Given the description of an element on the screen output the (x, y) to click on. 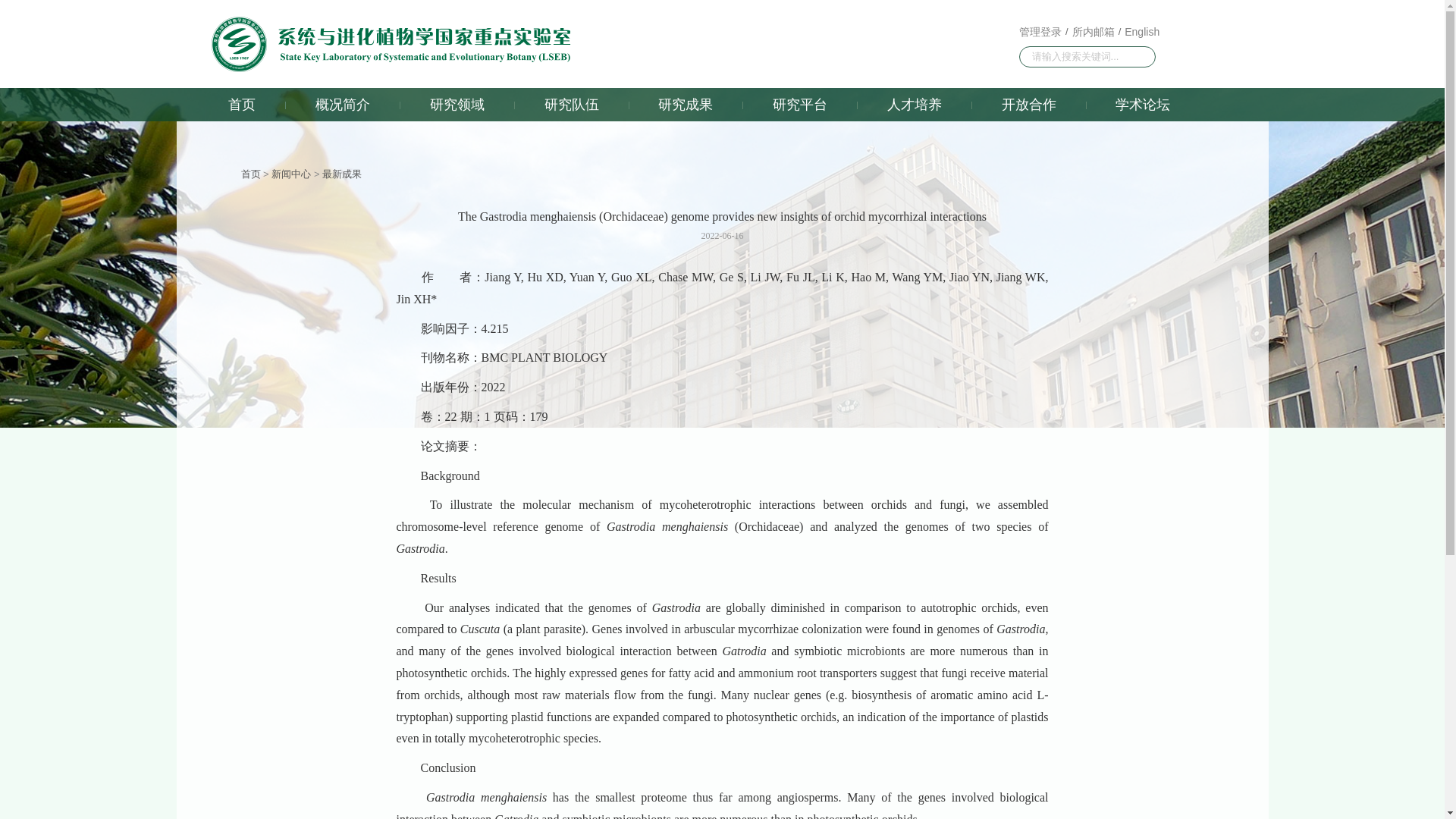
English (1141, 31)
